Given the description of an element on the screen output the (x, y) to click on. 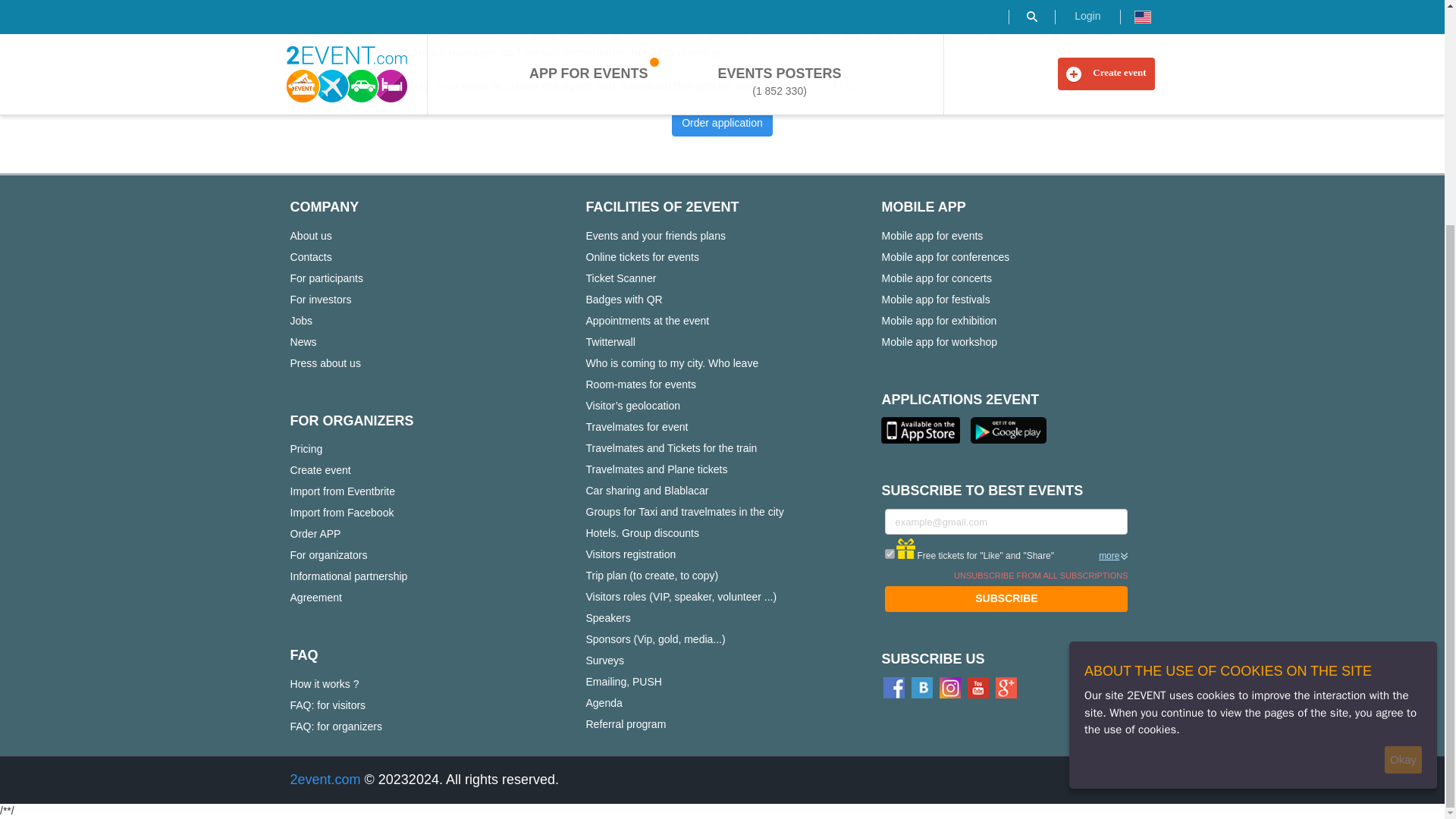
on (890, 553)
press about us (324, 362)
Android (814, 85)
Jobs (301, 320)
contacts (310, 256)
News (302, 341)
about us (310, 235)
COMPANY (323, 206)
iOS (855, 85)
Order application (722, 123)
for participants (325, 278)
For investors (319, 299)
